Given the description of an element on the screen output the (x, y) to click on. 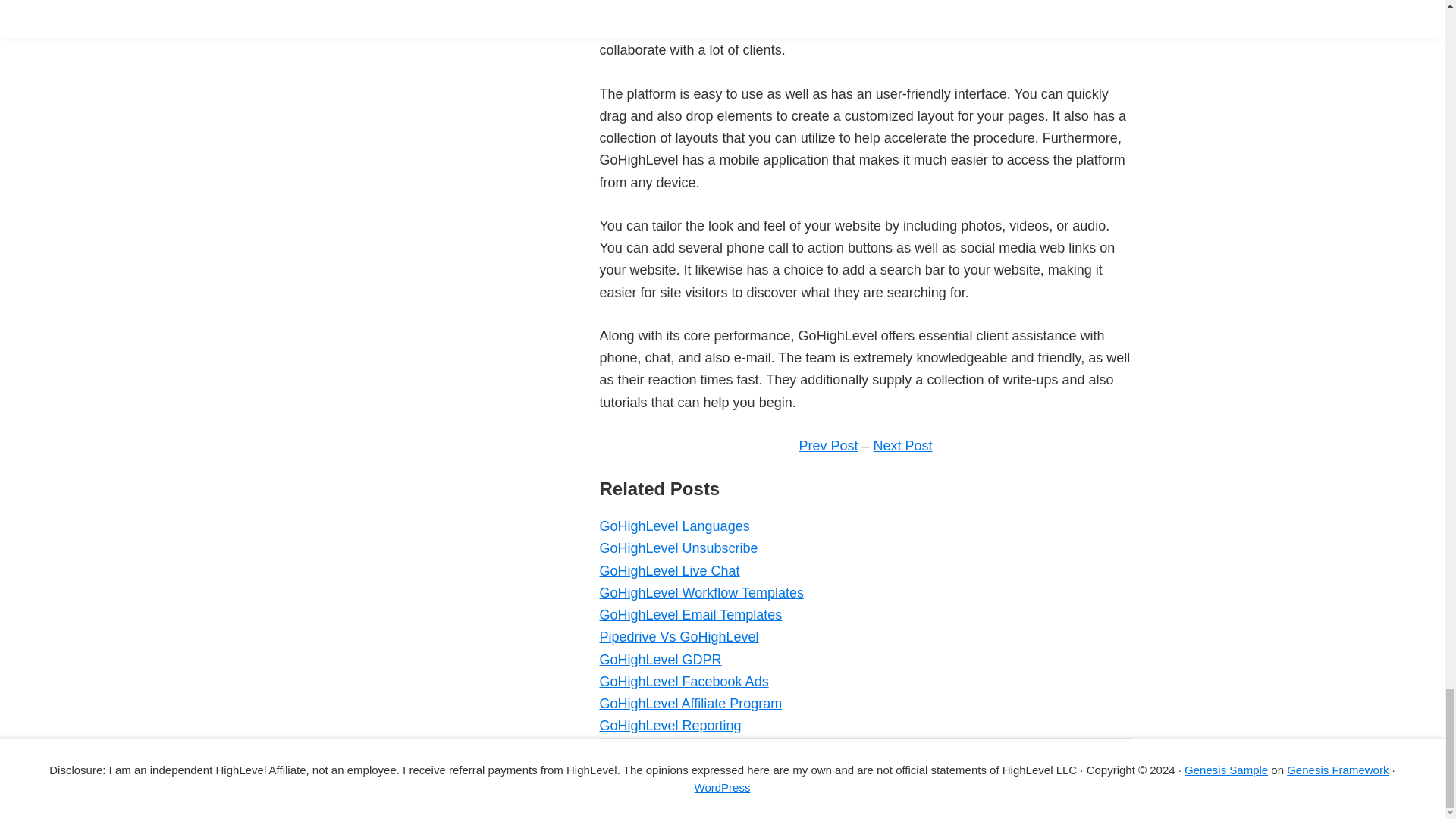
GoHighLevel Workflow Templates (700, 592)
Pipedrive Vs GoHighLevel (678, 636)
GoHighLevel Workflow Templates (700, 592)
GoHighLevel Live Chat (668, 570)
GoHighLevel Reporting (669, 725)
GoHighLevel Unsubscribe (677, 548)
GoHighLevel Unsubscribe (677, 548)
GoHighLevel Languages (673, 525)
GoHighLevel Languages (673, 525)
Pipedrive Vs GoHighLevel (678, 636)
